Given the description of an element on the screen output the (x, y) to click on. 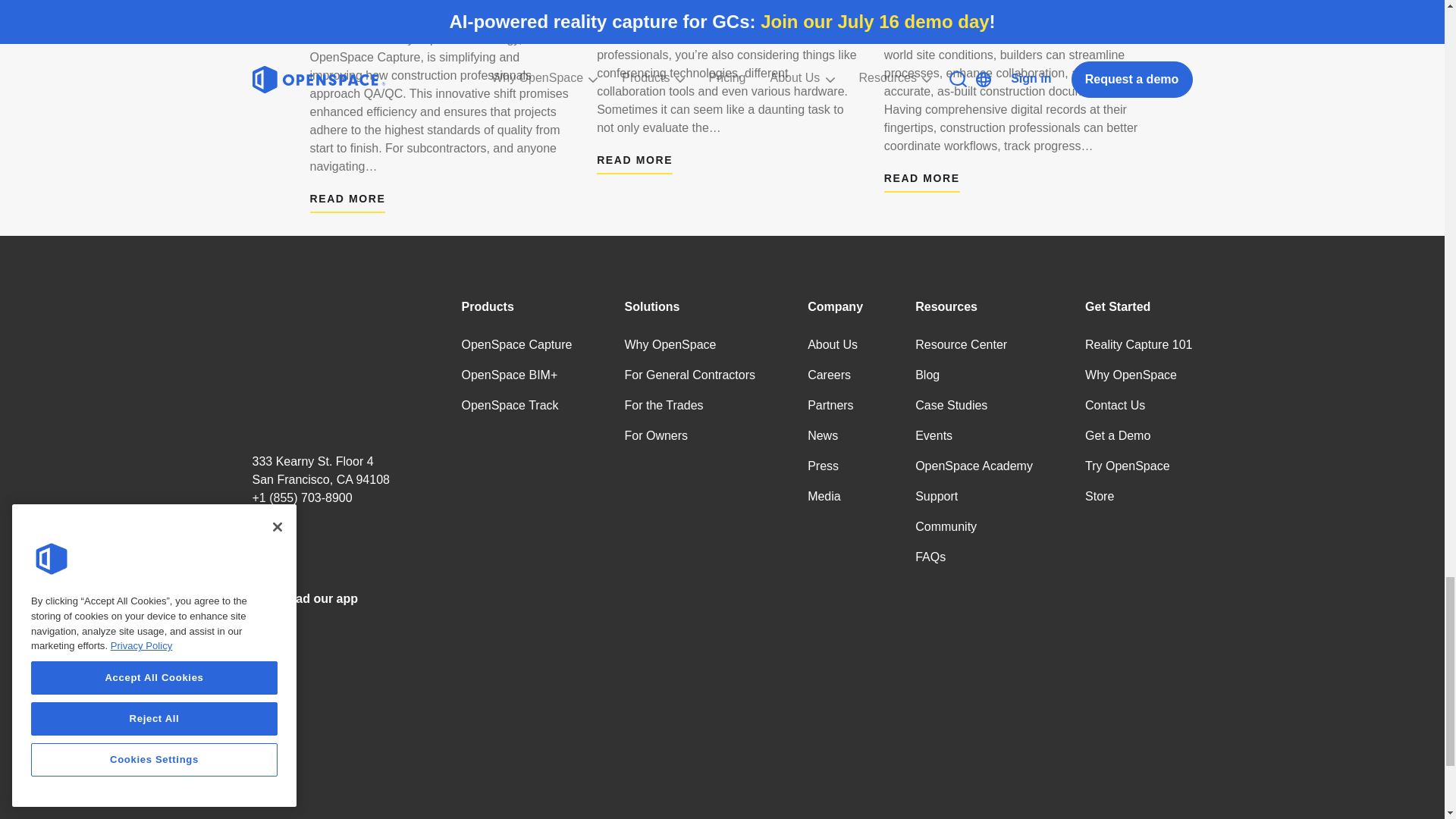
OpenSpace (328, 362)
Download App from Apple Store (328, 686)
Watch us on YouTube (298, 550)
Download App from Google Play Store (328, 788)
